Given the description of an element on the screen output the (x, y) to click on. 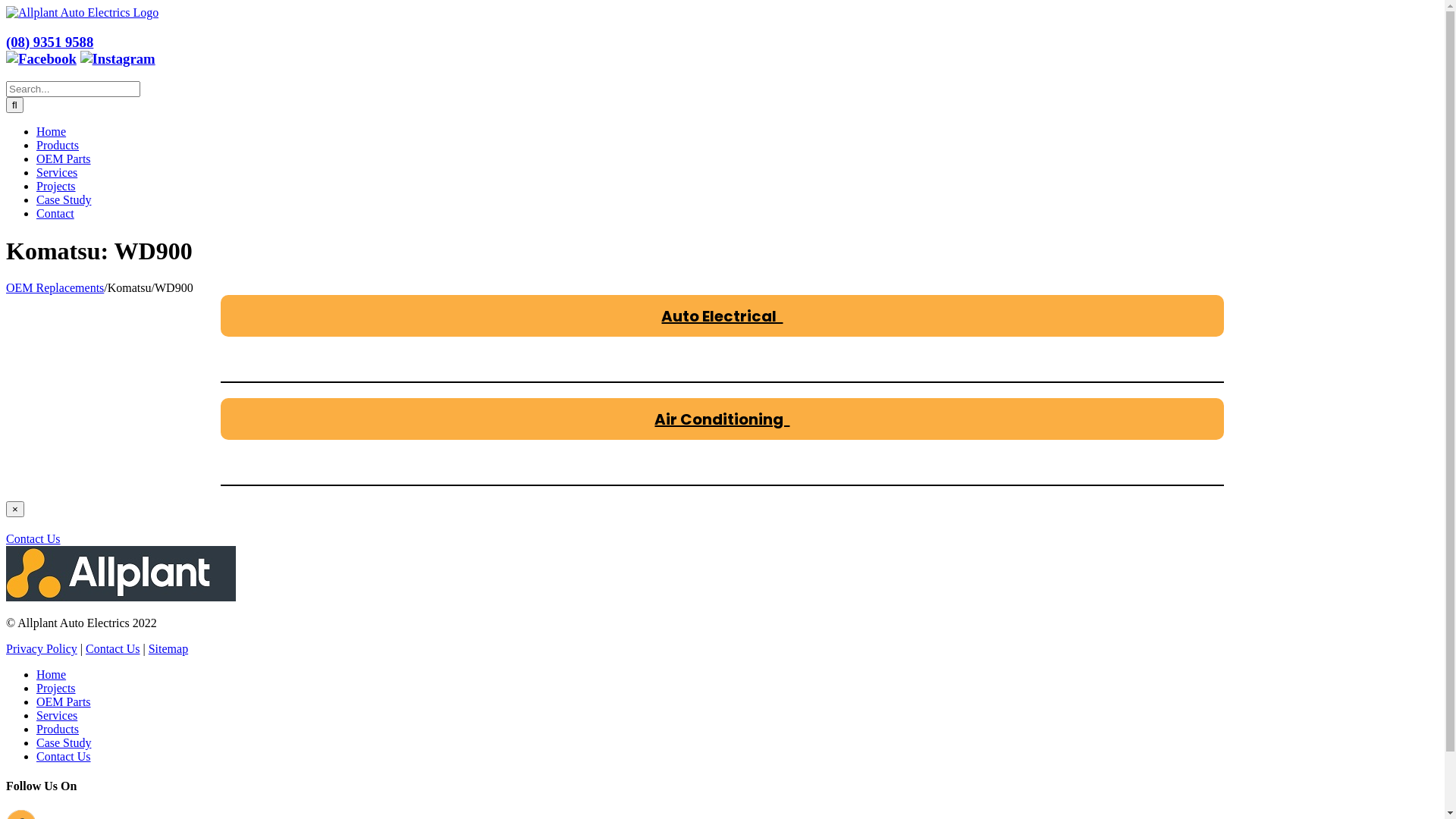
Products Element type: text (57, 728)
Services Element type: text (56, 715)
Sitemap Element type: text (168, 648)
Skip to content Element type: text (5, 5)
Contact Us Element type: text (63, 755)
Home Element type: text (50, 674)
Projects Element type: text (55, 185)
Contact Us Element type: text (112, 648)
(08) 9351 9588 Element type: text (49, 42)
Projects Element type: text (55, 687)
Case Study Element type: text (63, 199)
OEM Parts Element type: text (63, 158)
OEM Parts Element type: text (63, 701)
Contact Element type: text (55, 213)
Case Study Element type: text (63, 742)
Privacy Policy Element type: text (41, 648)
Auto Electrical   Element type: text (721, 315)
Contact Us Element type: text (33, 538)
Products Element type: text (57, 144)
Home Element type: text (50, 131)
OEM Replacements Element type: text (54, 287)
Air Conditioning   Element type: text (721, 418)
Services Element type: text (56, 172)
